Given the description of an element on the screen output the (x, y) to click on. 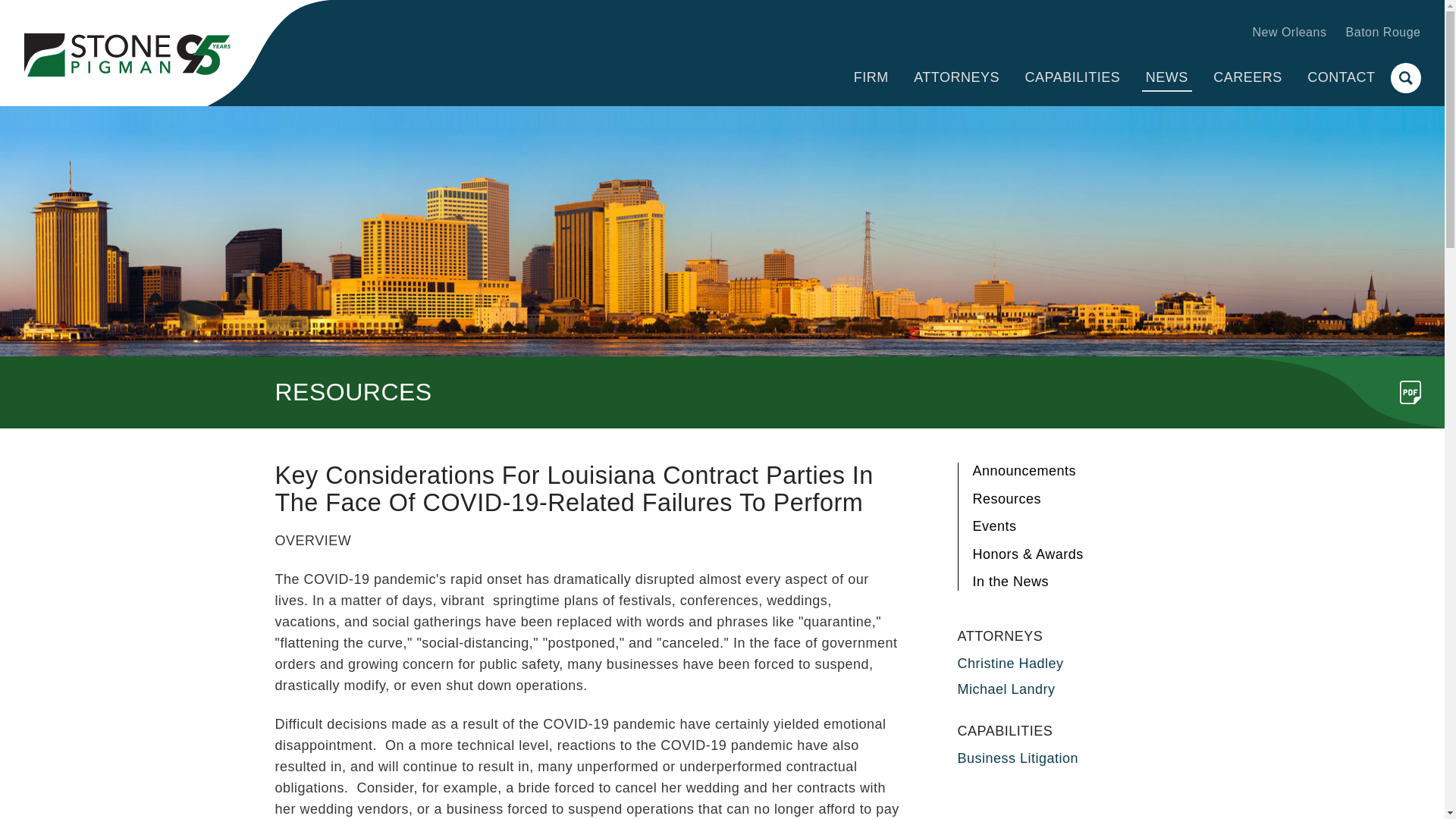
Announcements (1023, 470)
FIRM (871, 77)
ATTORNEYS (956, 77)
CAPABILITIES (1073, 77)
Michael Landry (1005, 688)
Christine Hadley (1009, 663)
In the News (1010, 581)
Events (994, 525)
Resources (1006, 498)
Business Litigation (1017, 758)
